Given the description of an element on the screen output the (x, y) to click on. 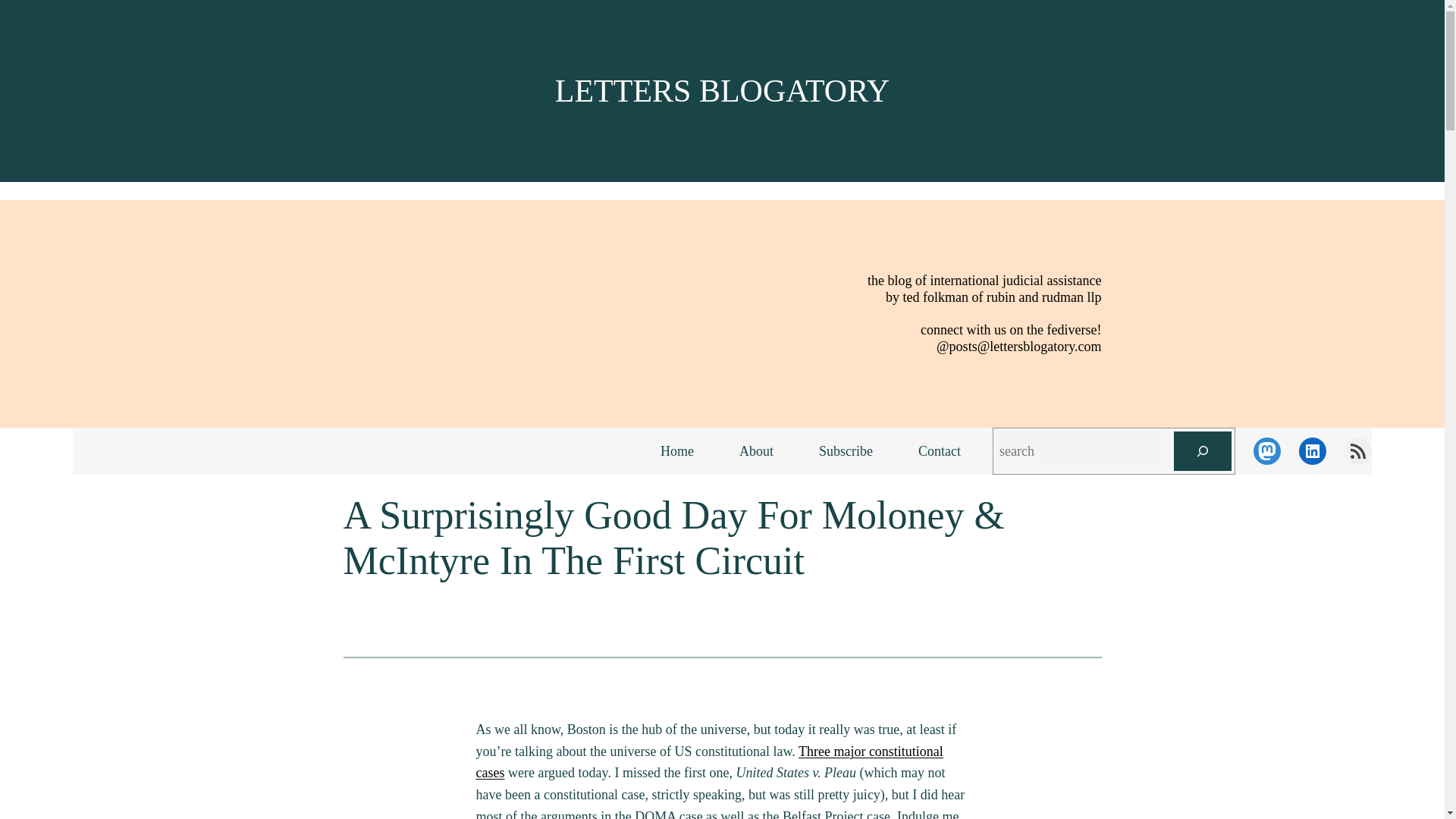
Subscribe (845, 451)
Contact (939, 451)
Letters Blogatory RSS feed (1357, 451)
Three major constitutional cases (709, 762)
About (756, 451)
Mastodon (1267, 451)
Home (676, 451)
LinkedIn (1312, 451)
